Given the description of an element on the screen output the (x, y) to click on. 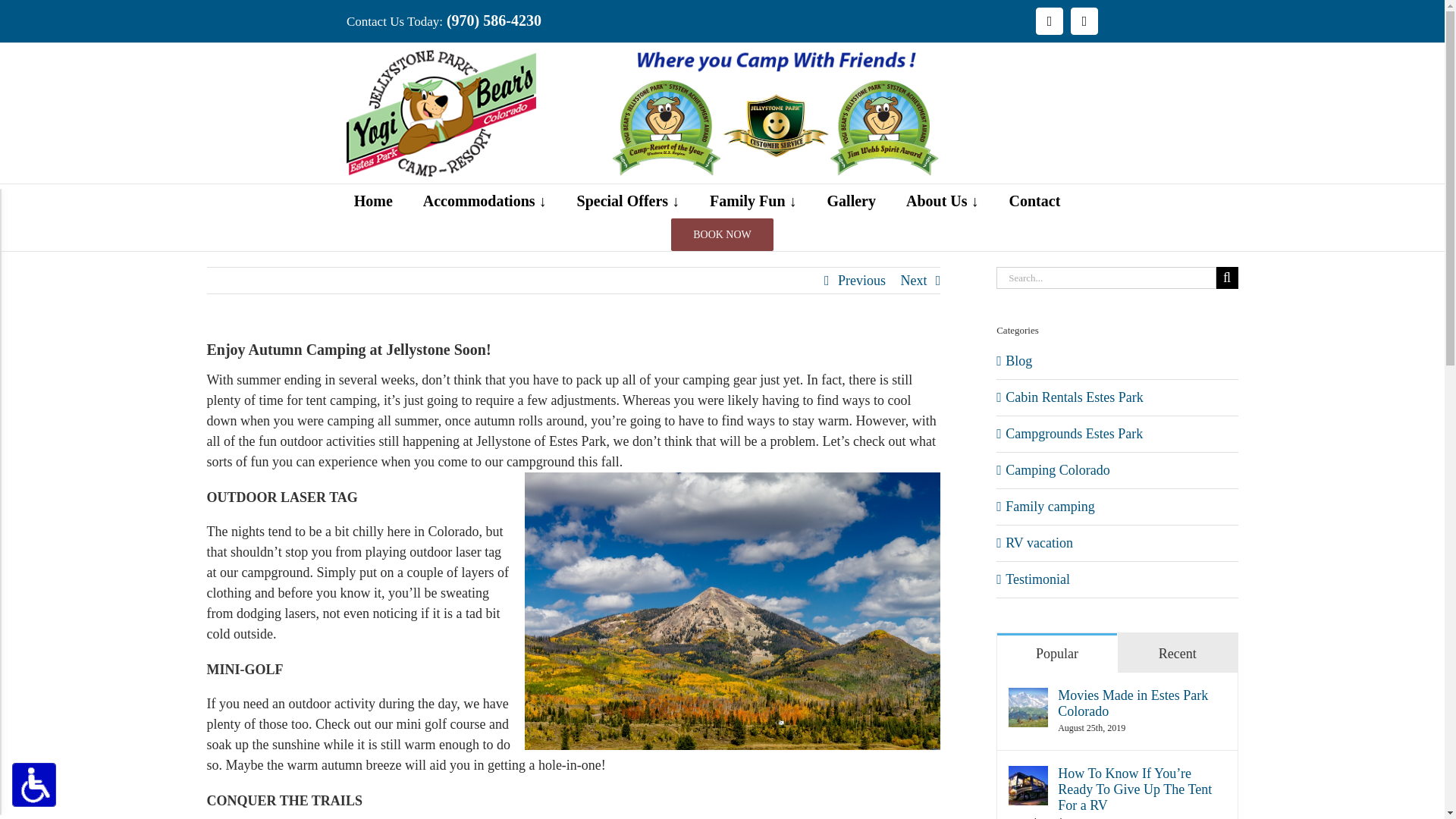
Facebook (1048, 21)
Home (373, 200)
Contact (1035, 200)
Instagram (1083, 21)
BOOK NOW (722, 233)
Gallery (851, 200)
dreamstime xxl eea efaaa f (732, 610)
